Given the description of an element on the screen output the (x, y) to click on. 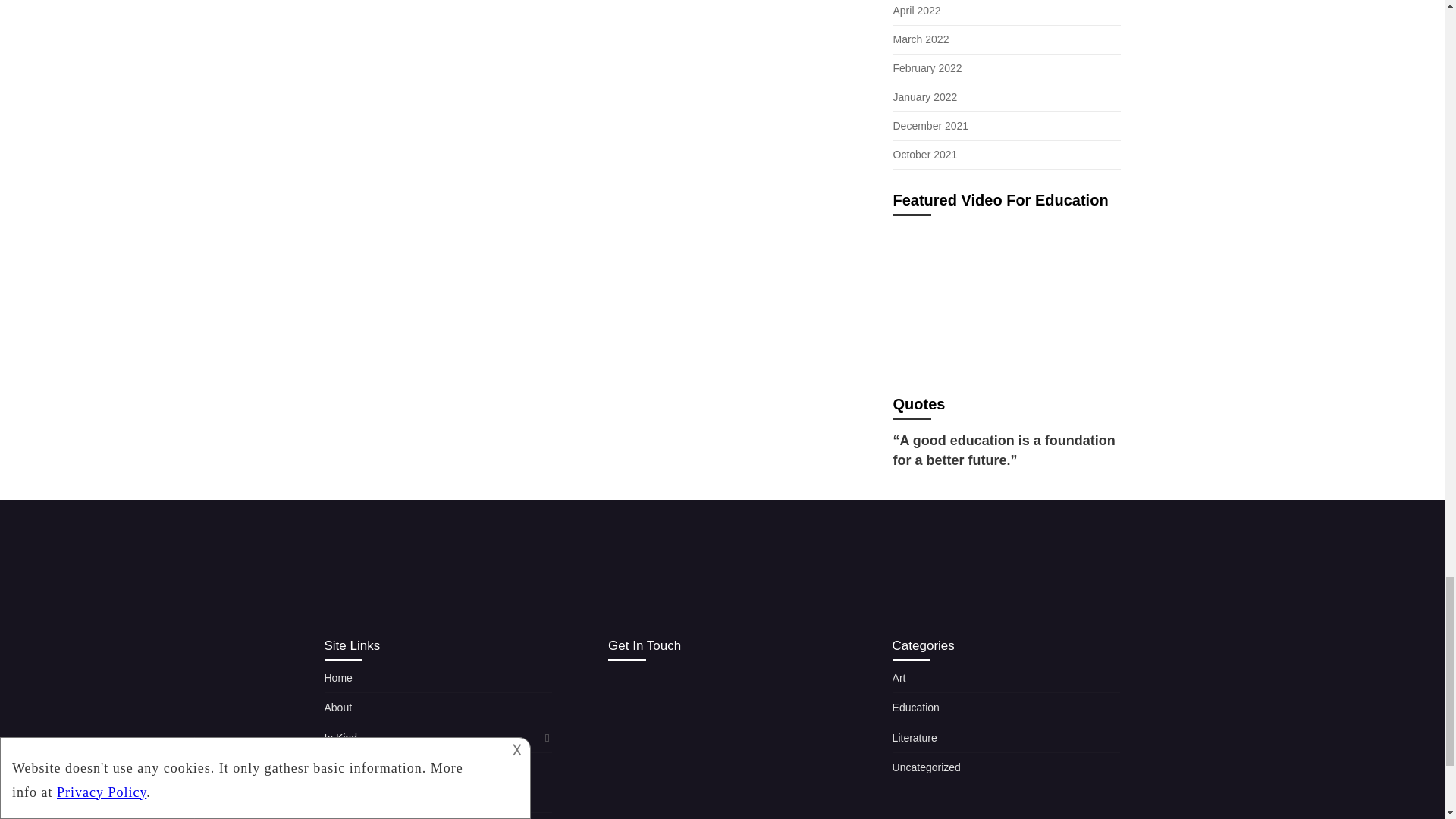
YouTube video player (1007, 300)
